Given the description of an element on the screen output the (x, y) to click on. 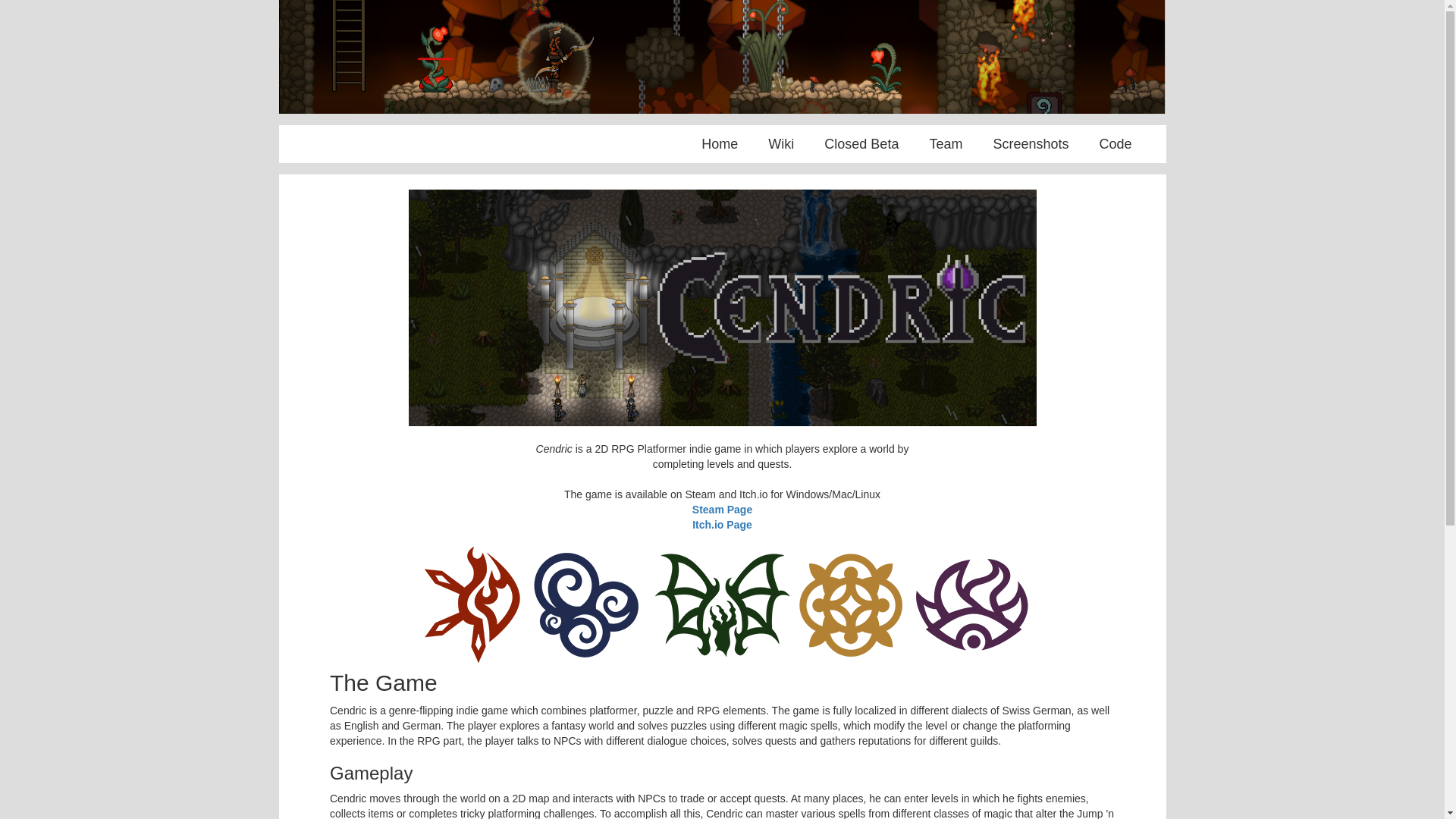
Steam Page Element type: text (722, 509)
Team Element type: text (945, 143)
Wiki Element type: text (780, 143)
Home Element type: text (719, 143)
Itch.io Page Element type: text (722, 524)
Closed Beta Element type: text (861, 143)
Code Element type: text (1114, 143)
Screenshots Element type: text (1030, 143)
